Given the description of an element on the screen output the (x, y) to click on. 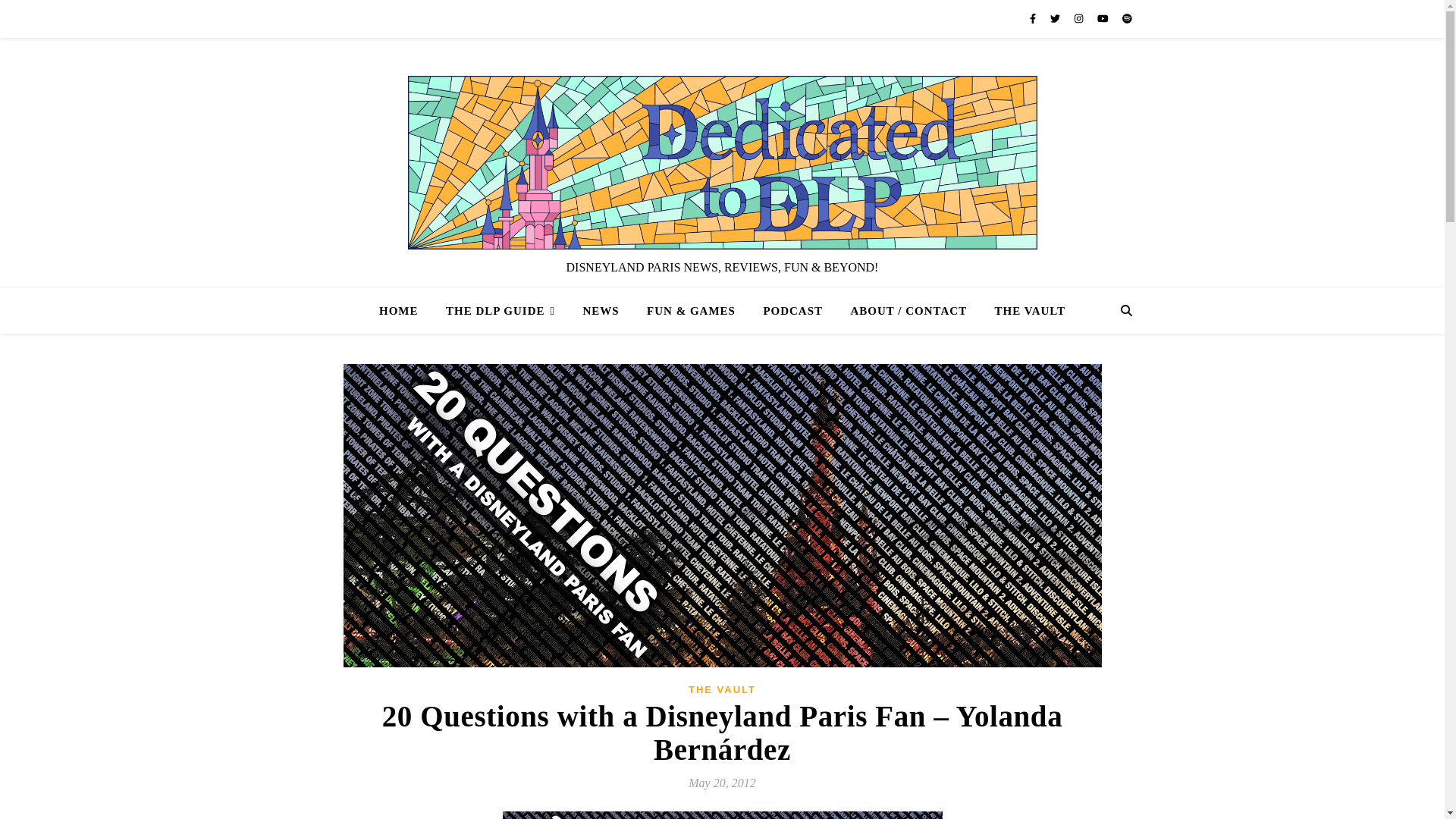
Dedicated To DLP (721, 162)
HOME (404, 310)
THE VAULT (1023, 310)
THE VAULT (721, 689)
NEWS (600, 310)
PODCAST (792, 310)
20 Questions with a Disneyland Paris Fan (722, 815)
THE DLP GUIDE (500, 310)
